Given the description of an element on the screen output the (x, y) to click on. 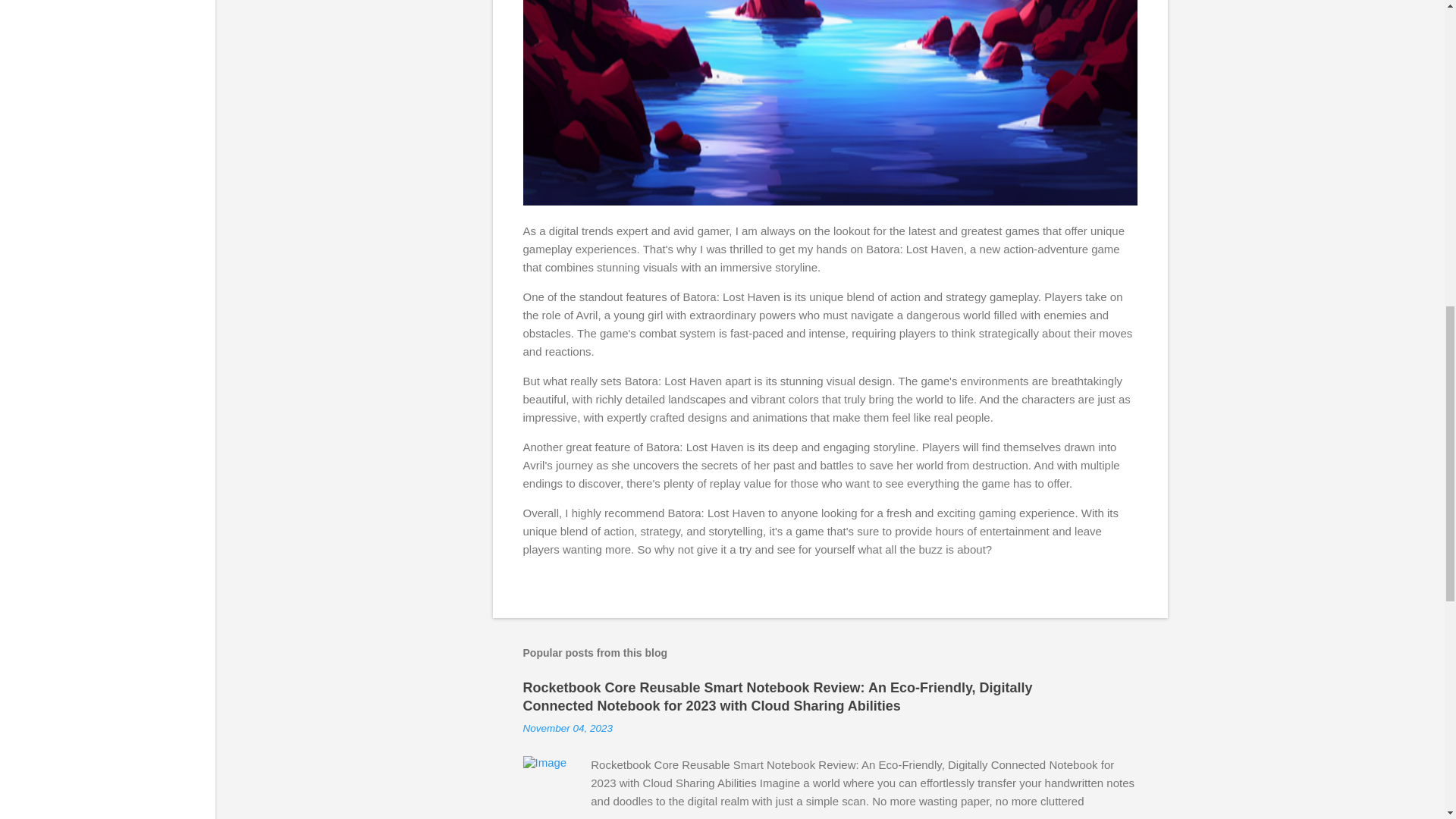
November 04, 2023 (567, 727)
permanent link (567, 727)
